Given the description of an element on the screen output the (x, y) to click on. 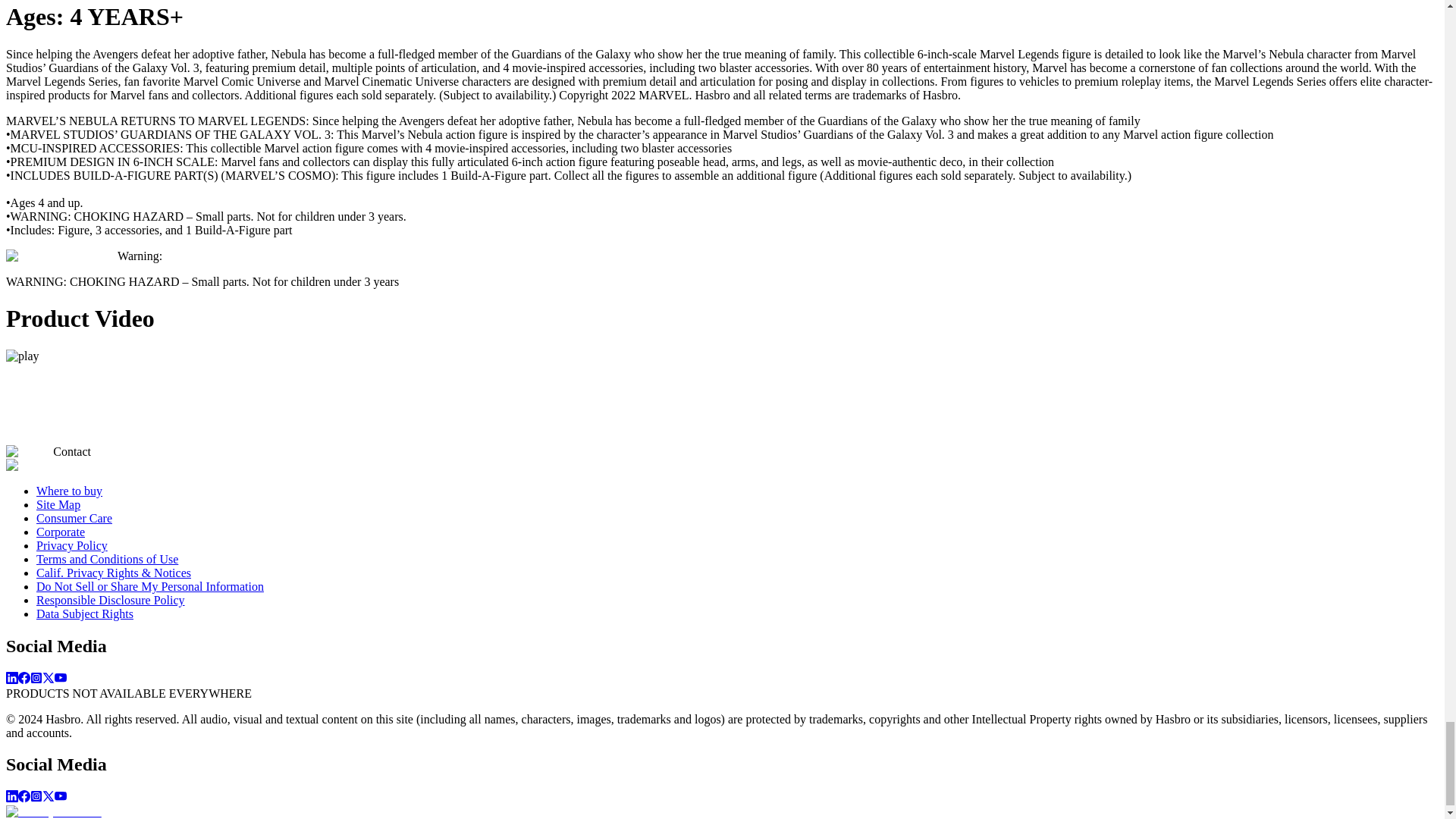
Privacy Policy (71, 545)
Terms and Conditions of Use (106, 558)
Responsible Disclosure Policy (110, 599)
Data Subject Rights (84, 613)
Site Map (58, 504)
Corporate (60, 531)
Consumer Care (74, 517)
Where to buy (68, 490)
Do Not Sell or Share My Personal Information (149, 585)
